Given the description of an element on the screen output the (x, y) to click on. 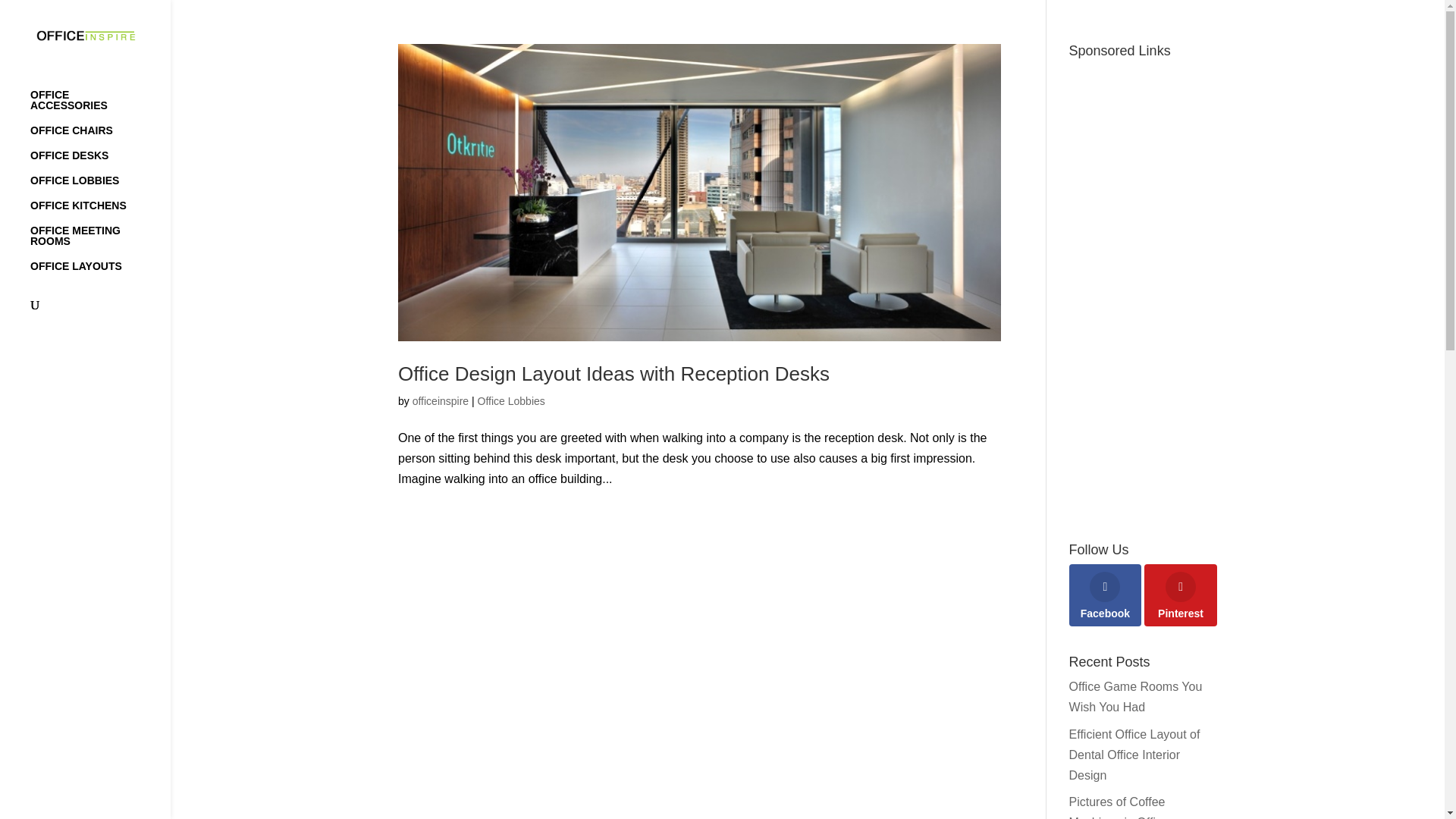
OFFICE ACCESSORIES (100, 107)
OFFICE LAYOUTS (100, 273)
OFFICE LOBBIES (100, 187)
Pinterest (1180, 595)
Posts by officeinspire (440, 400)
OFFICE MEETING ROOMS (100, 243)
OFFICE CHAIRS (100, 137)
Office Game Rooms You Wish You Had (1135, 696)
Office Design Layout Ideas with Reception Desks (613, 373)
Facebook (1104, 595)
Efficient Office Layout of Dental Office Interior Design (1133, 755)
OFFICE KITCHENS (100, 212)
Pictures of Coffee Machines in Office Kitchens (1118, 807)
Office Lobbies (510, 400)
OFFICE DESKS (100, 162)
